Given the description of an element on the screen output the (x, y) to click on. 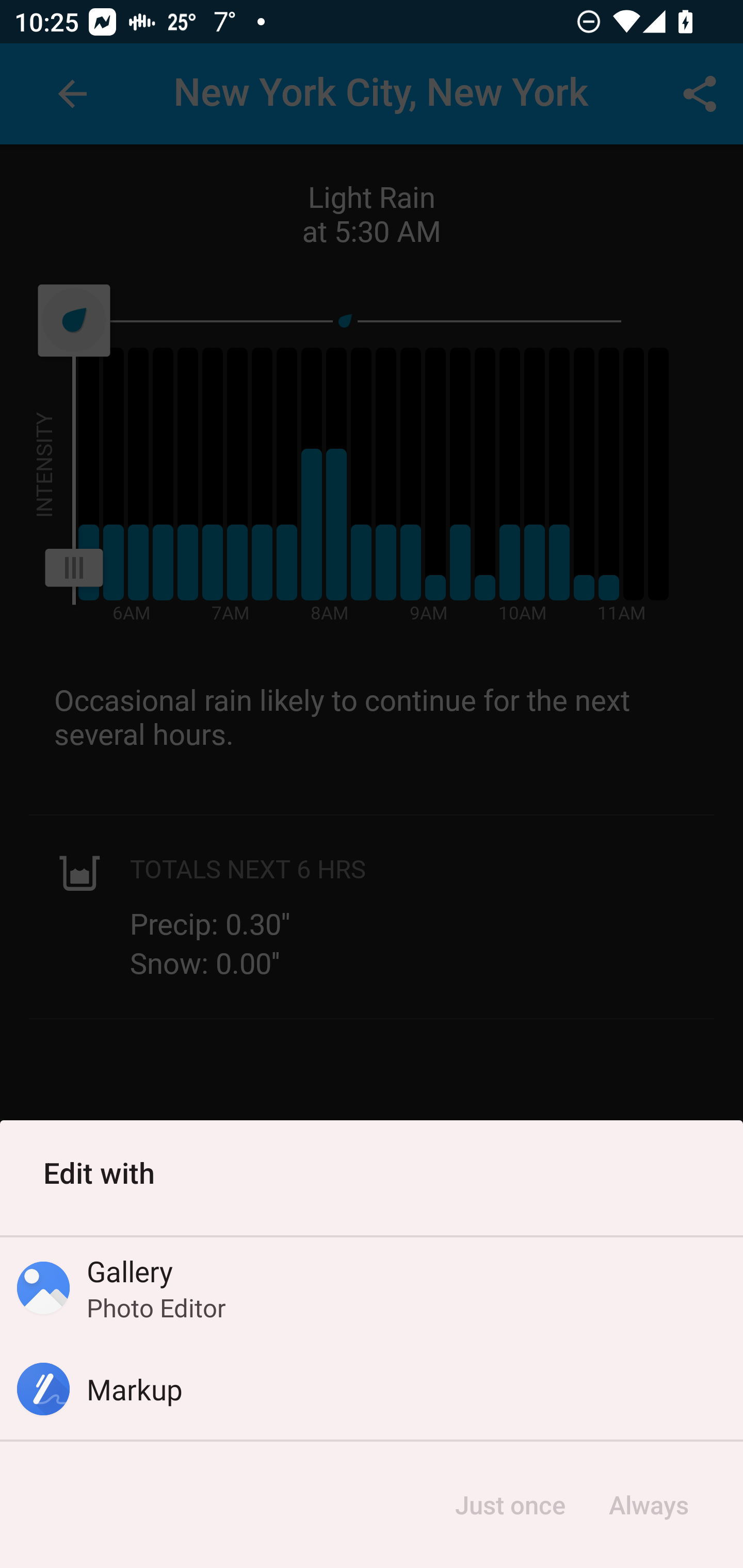
Gallery Photo Editor (371, 1288)
Markup (371, 1389)
Just once (509, 1504)
Always (648, 1504)
